Given the description of an element on the screen output the (x, y) to click on. 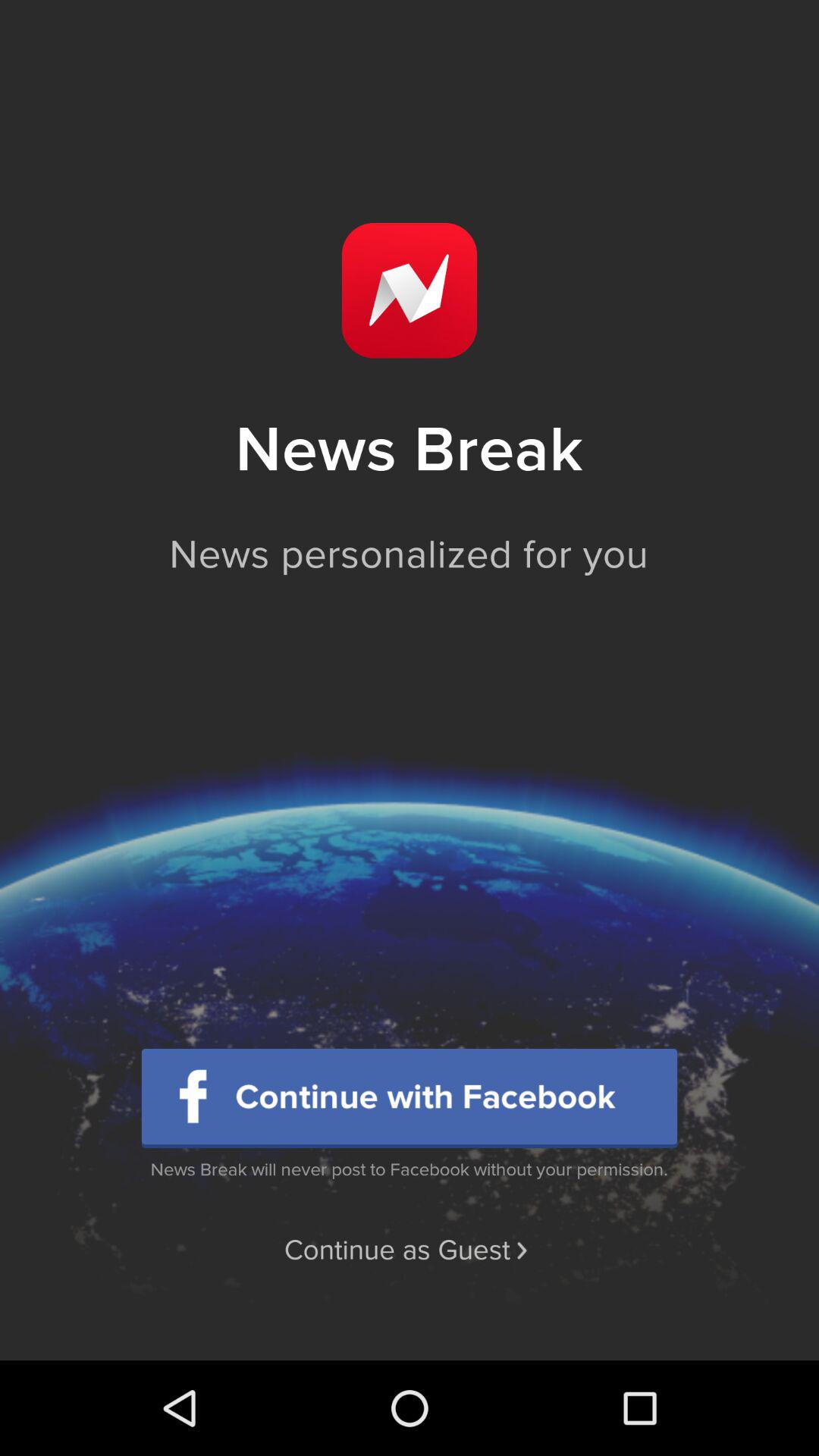
swipe until the continue as guest item (409, 1250)
